Given the description of an element on the screen output the (x, y) to click on. 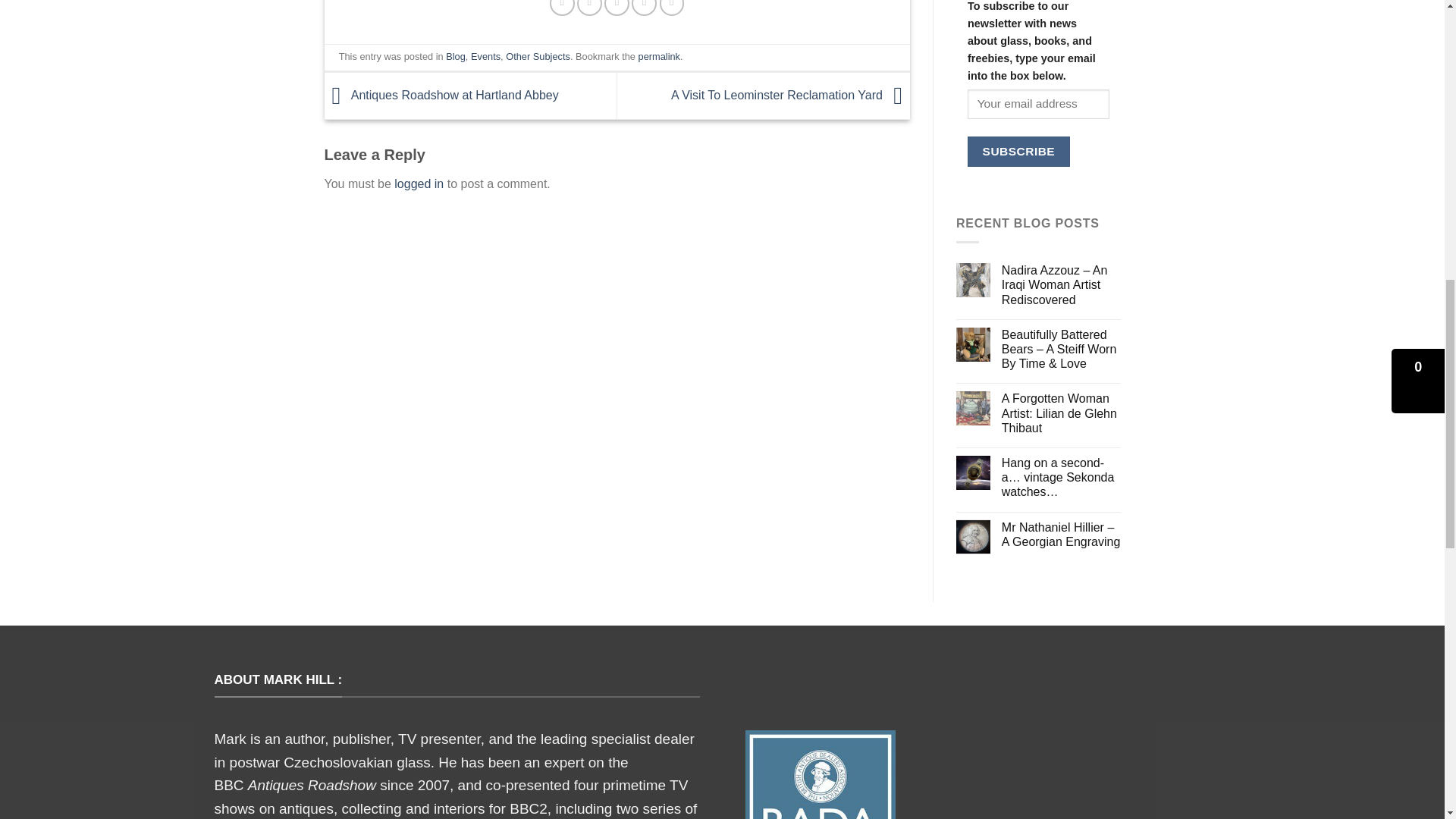
Subscribe (1019, 151)
Permalink to A New Member For The Arts Scholars (659, 56)
